Given the description of an element on the screen output the (x, y) to click on. 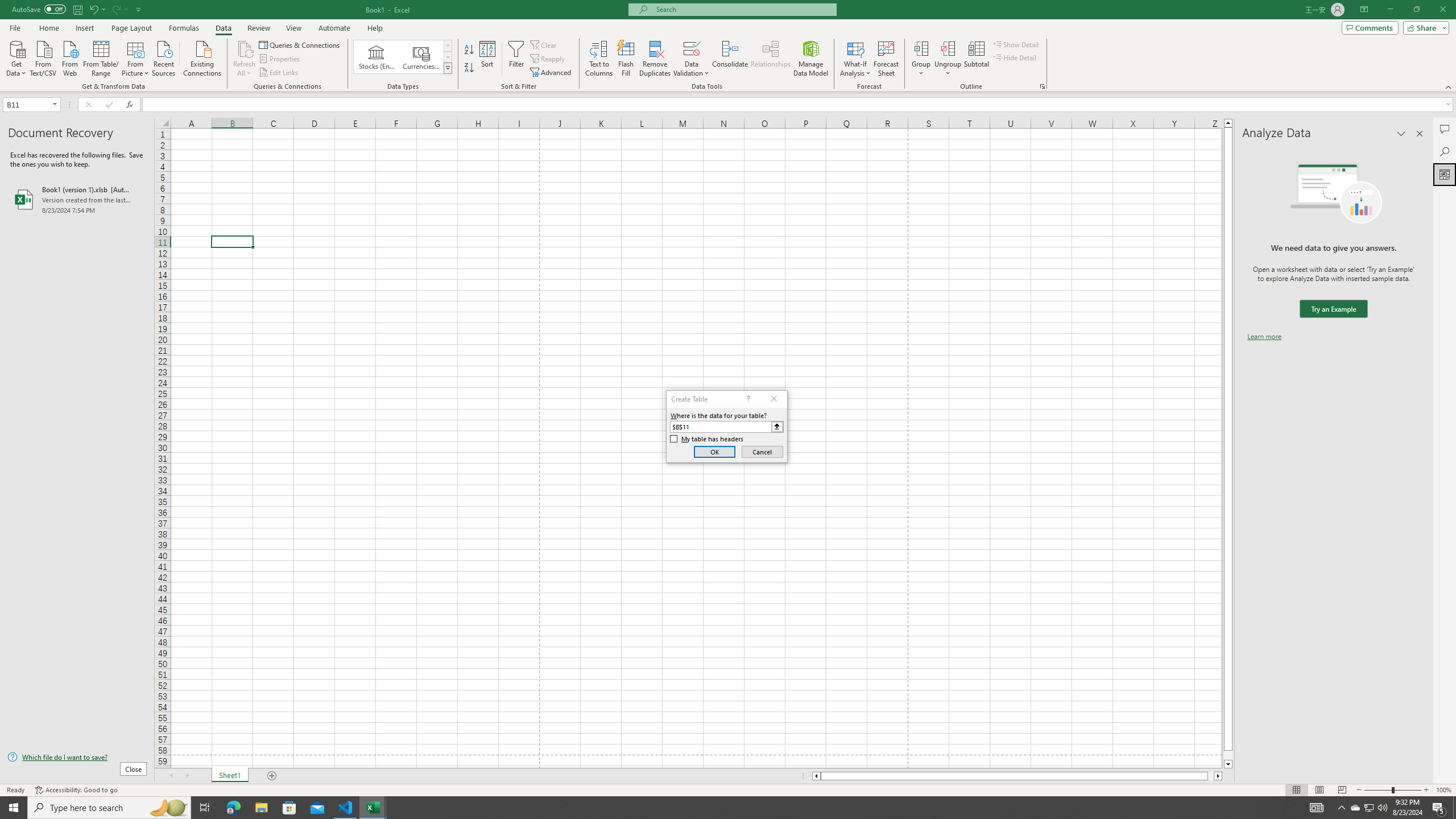
Existing Connections (202, 57)
Currencies (English) (420, 56)
Filter (515, 58)
